Given the description of an element on the screen output the (x, y) to click on. 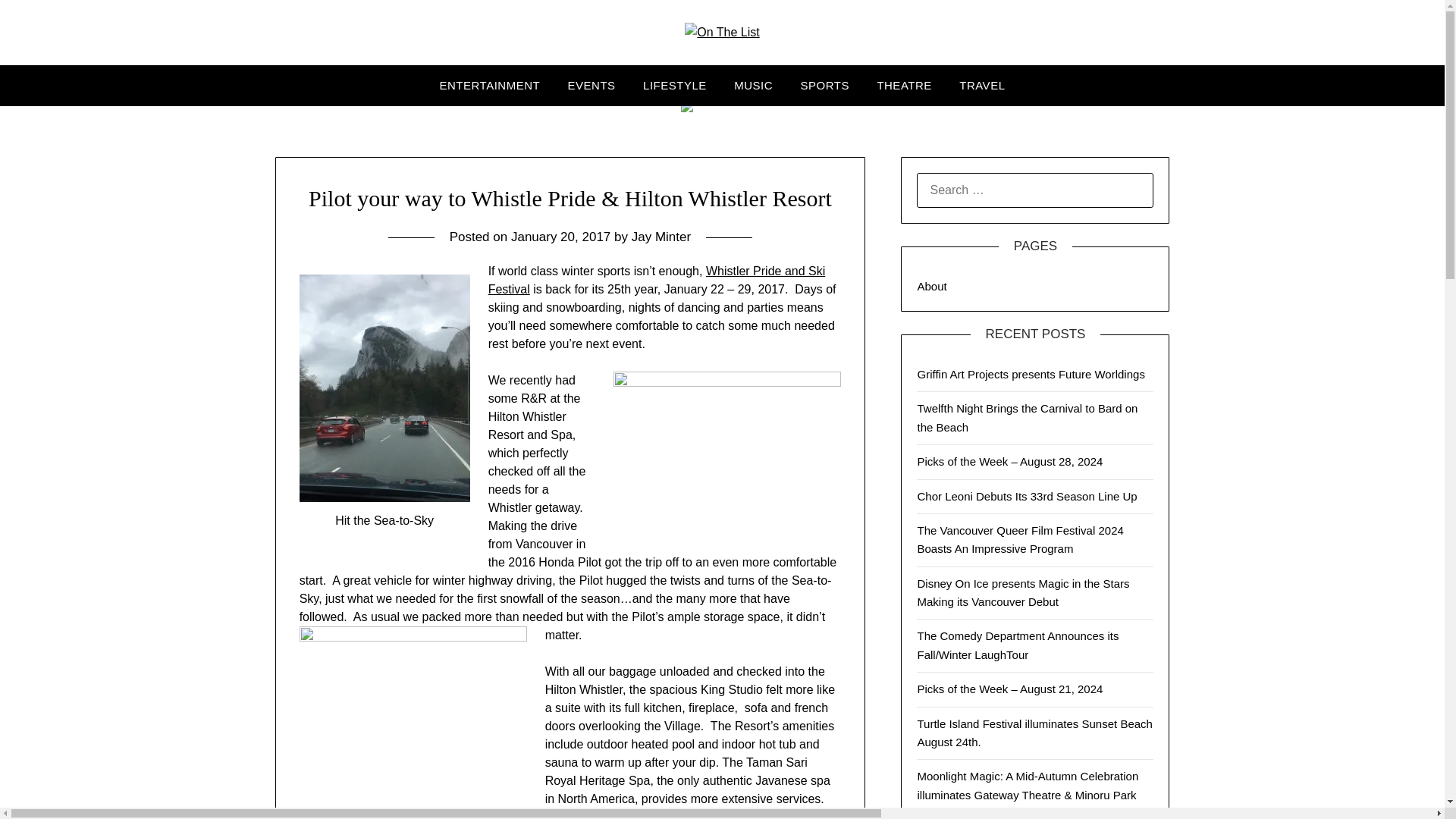
Griffin Art Projects presents Future Worldings (1030, 373)
Chor Leoni Debuts Its 33rd Season Line Up (1027, 495)
Whistler Pride and Ski Festival (656, 279)
Turtle Island Festival illuminates Sunset Beach August 24th. (1034, 732)
Jay Minter (660, 237)
Twelfth Night Brings the Carnival to Bard on the Beach (1027, 417)
About (931, 286)
EVENTS (591, 85)
MUSIC (753, 85)
